Given the description of an element on the screen output the (x, y) to click on. 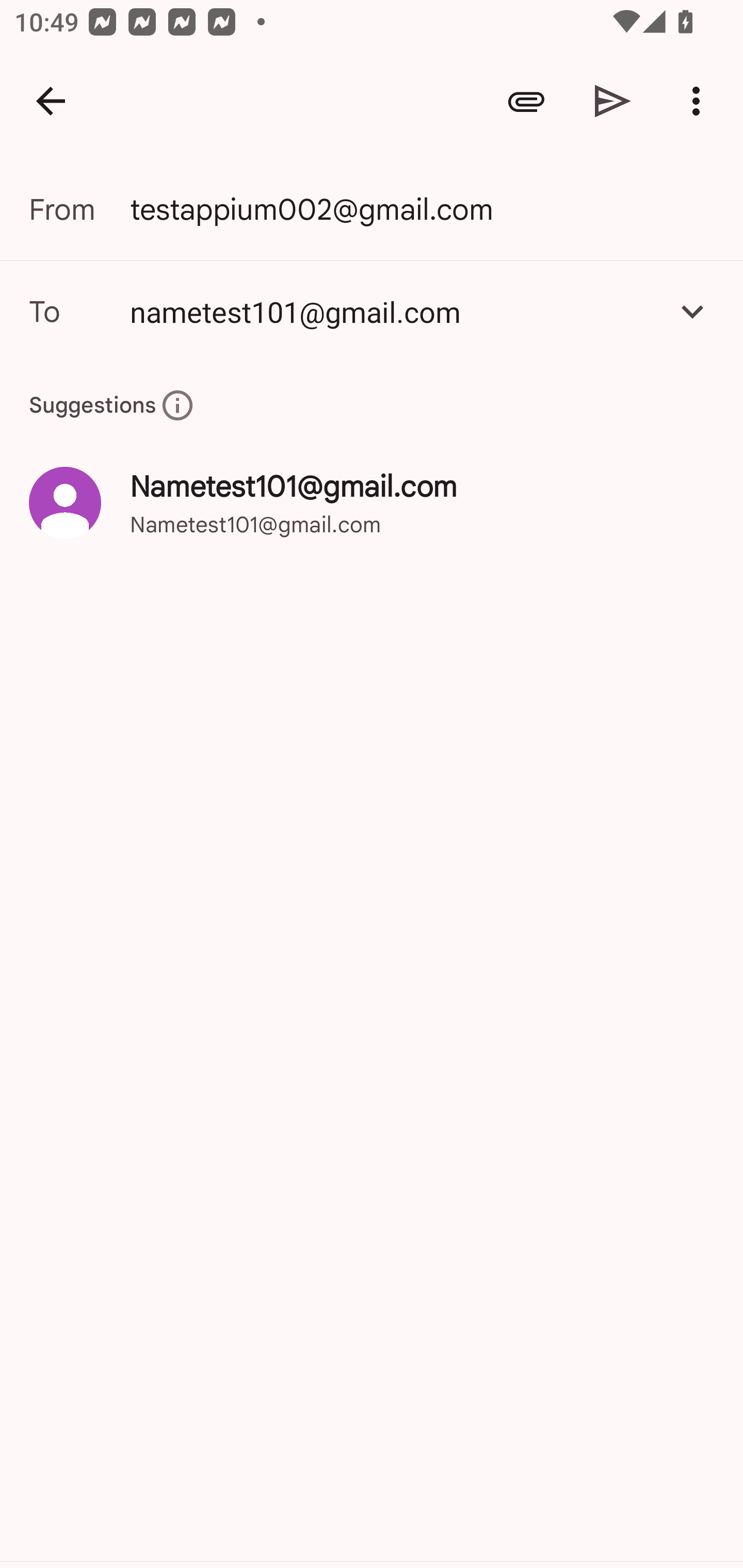
Navigate up (50, 101)
Attach file (525, 101)
Send (612, 101)
More options (699, 101)
From (79, 209)
Add Cc/Bcc (692, 311)
nametest101@gmail.com (371, 311)
nametest101@gmail.com (393, 311)
